Given the description of an element on the screen output the (x, y) to click on. 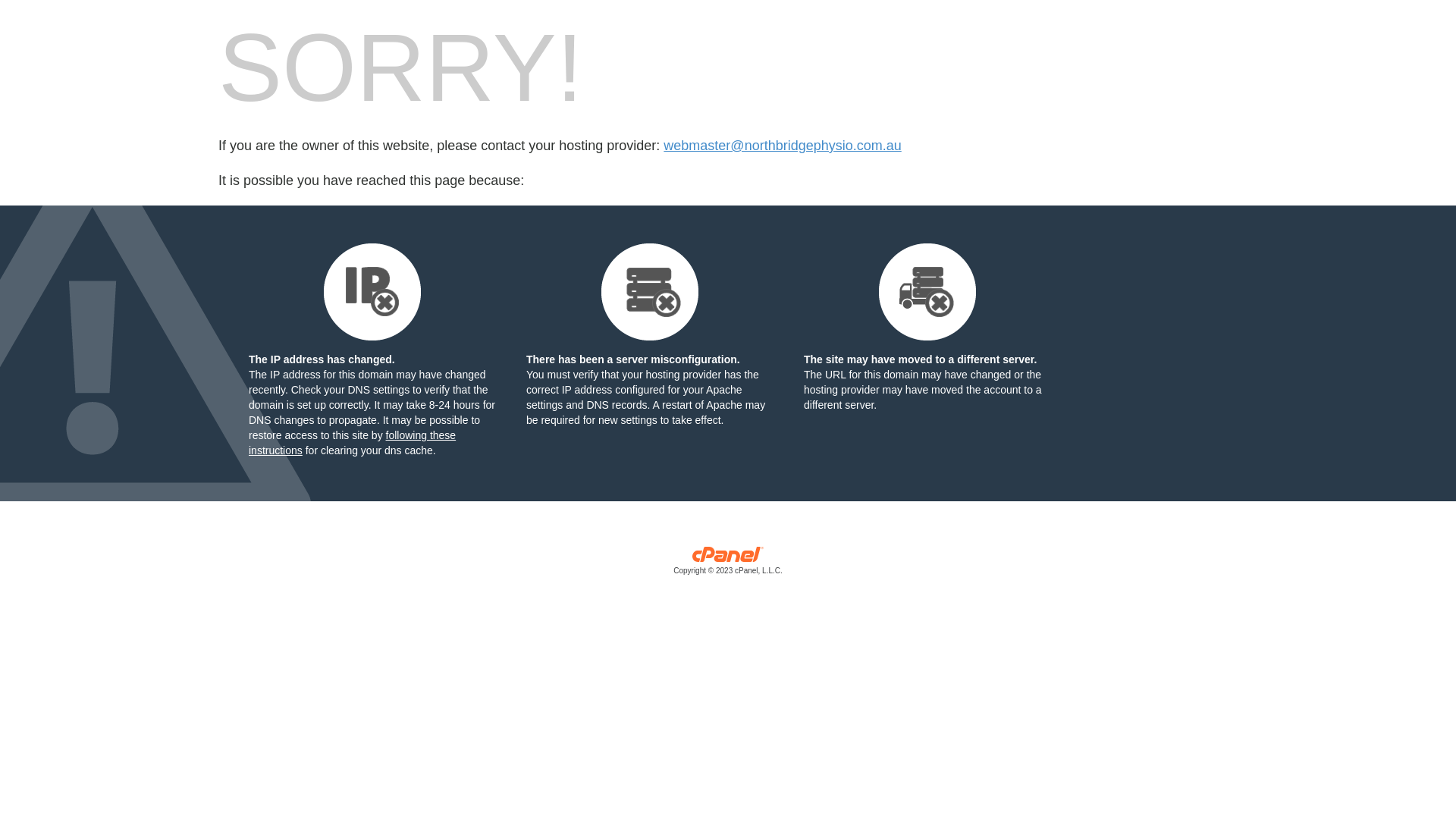
webmaster@northbridgephysio.com.au Element type: text (781, 145)
following these instructions Element type: text (351, 442)
